Given the description of an element on the screen output the (x, y) to click on. 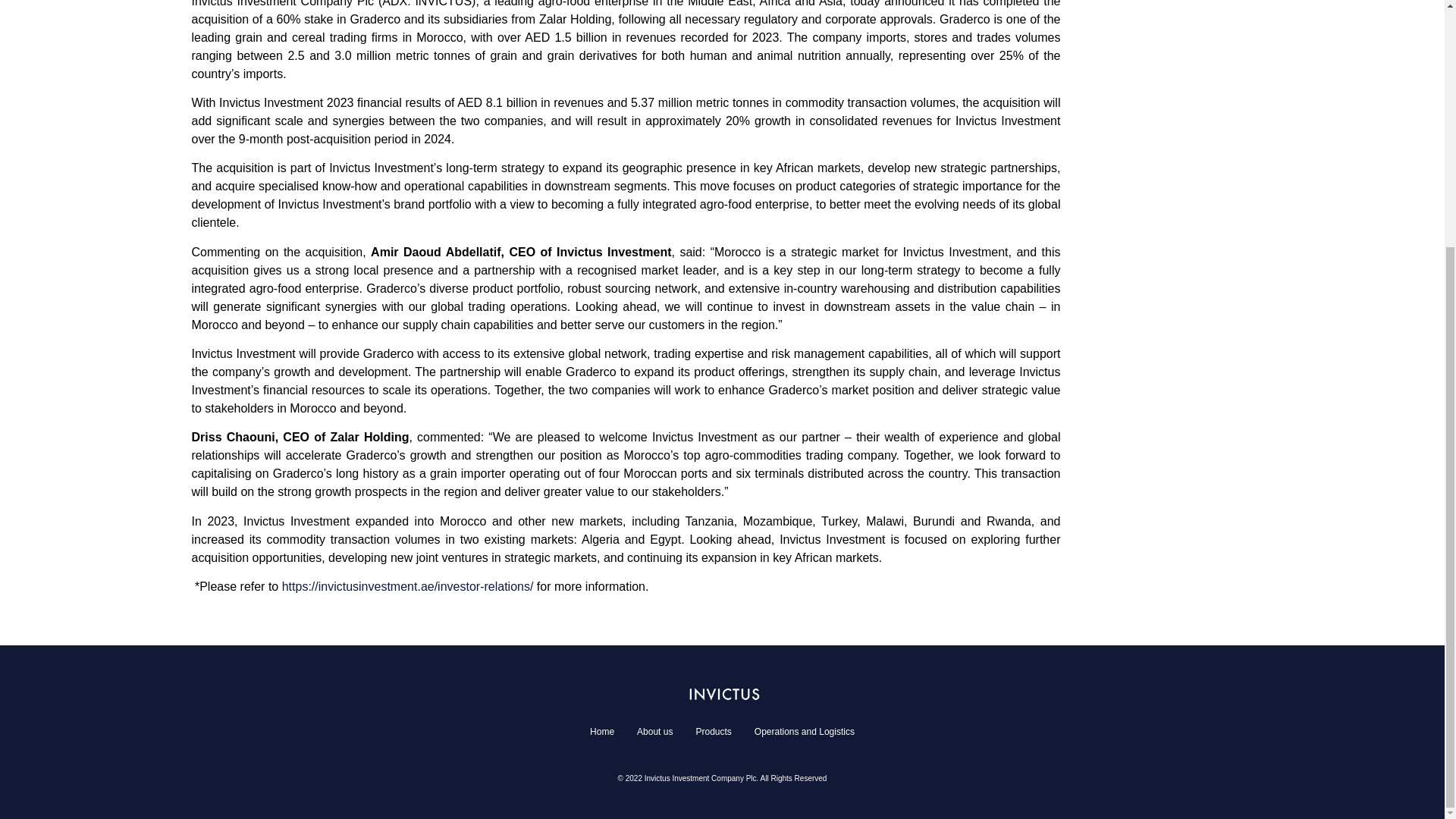
Home (602, 731)
About us (655, 731)
Operations and Logistics (804, 731)
Products (713, 731)
